Given the description of an element on the screen output the (x, y) to click on. 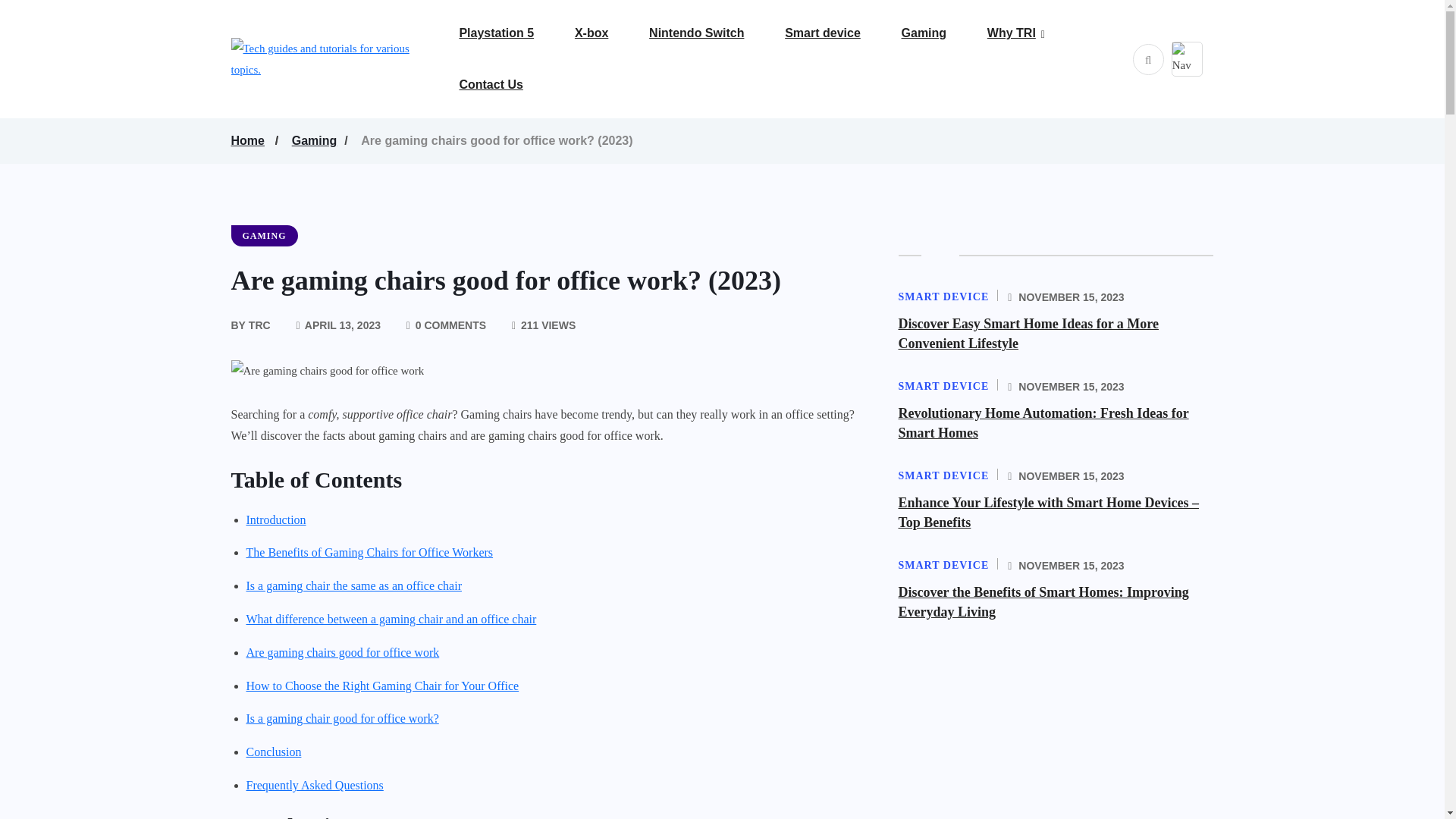
Nintendo Switch (715, 32)
Frequently Asked Questions (314, 785)
Is a gaming chair the same as an office chair (353, 586)
Introduction (275, 520)
Smart device (841, 32)
About Us (1081, 73)
Contact Us (509, 84)
Are gaming chairs good for office work (342, 653)
GAMING (263, 235)
Is a gaming chair good for office work? (342, 719)
Why TRI (1030, 32)
Conclusion (273, 752)
Gaming (317, 140)
Playstation 5 (515, 32)
